Given the description of an element on the screen output the (x, y) to click on. 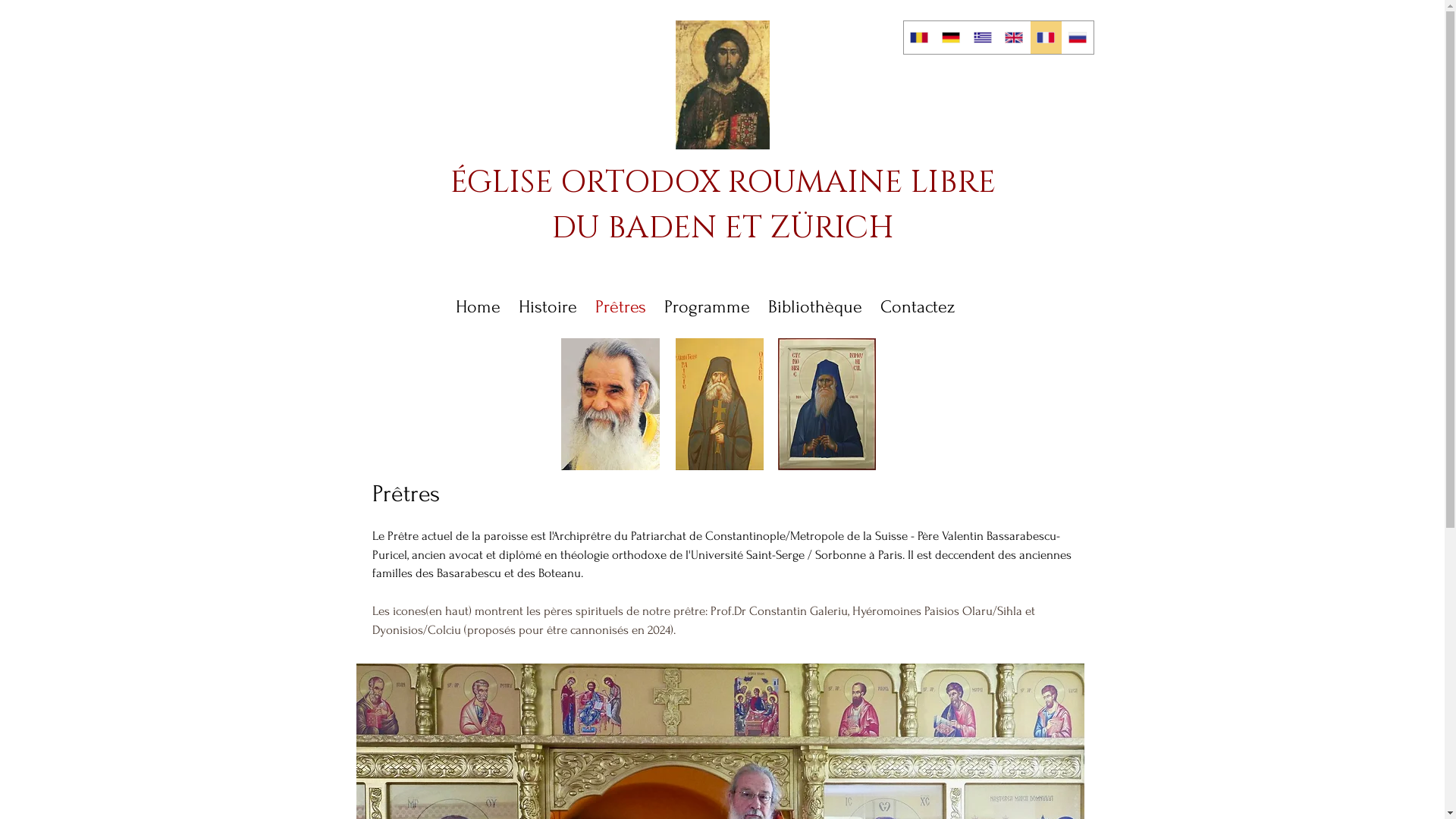
SfPaisieOlaru.jpg Element type: hover (718, 404)
Histoire Element type: text (547, 306)
Contactez Element type: text (917, 306)
Home Element type: text (477, 306)
SFDionisieIgnat.jpg Element type: hover (826, 404)
Parintele-Galeriu-intruchiparea-daruirii Element type: hover (610, 404)
Programme Element type: text (707, 306)
